Given the description of an element on the screen output the (x, y) to click on. 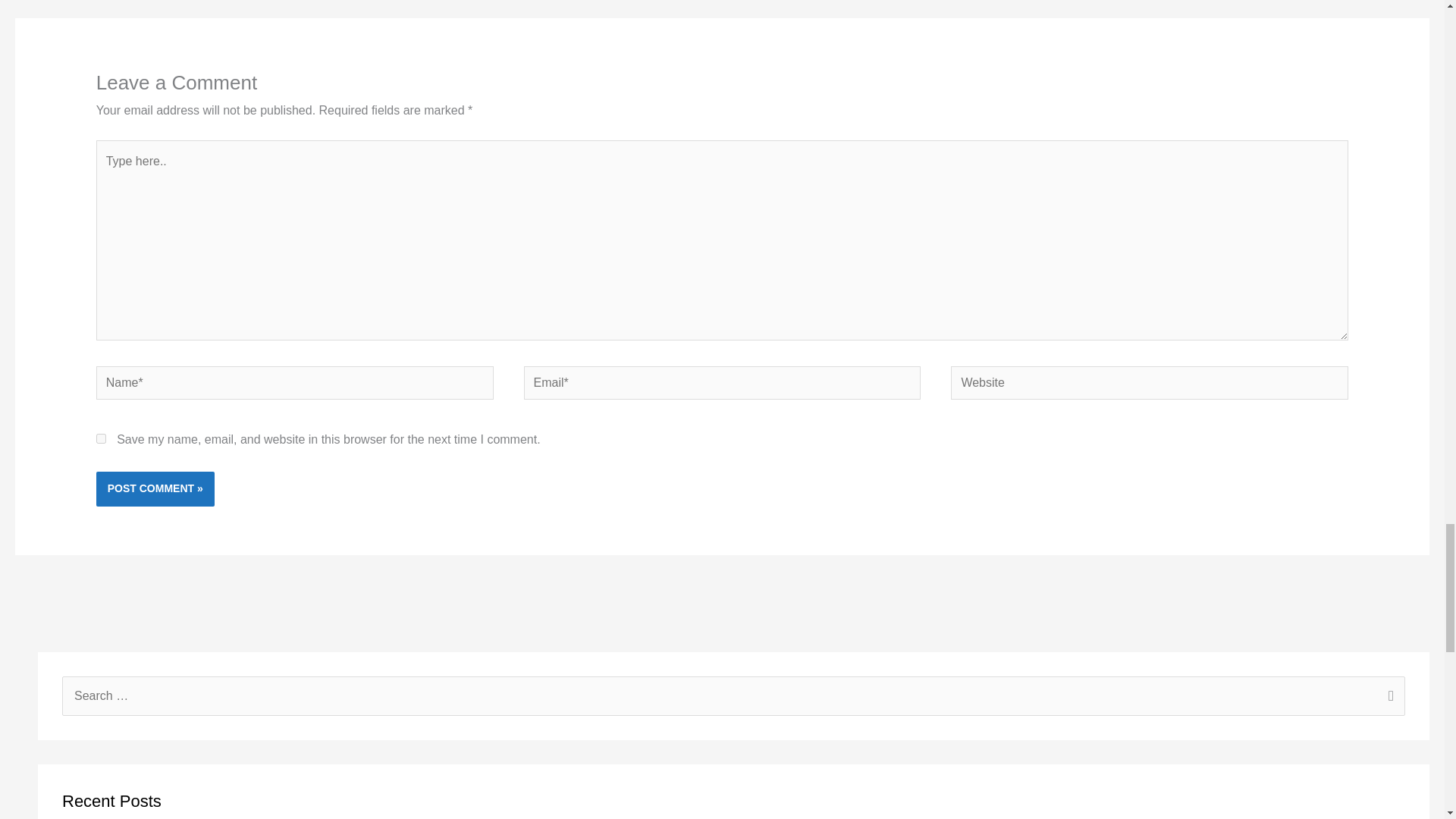
Search (1388, 697)
Search (1388, 697)
yes (101, 438)
Search (1388, 697)
